Given the description of an element on the screen output the (x, y) to click on. 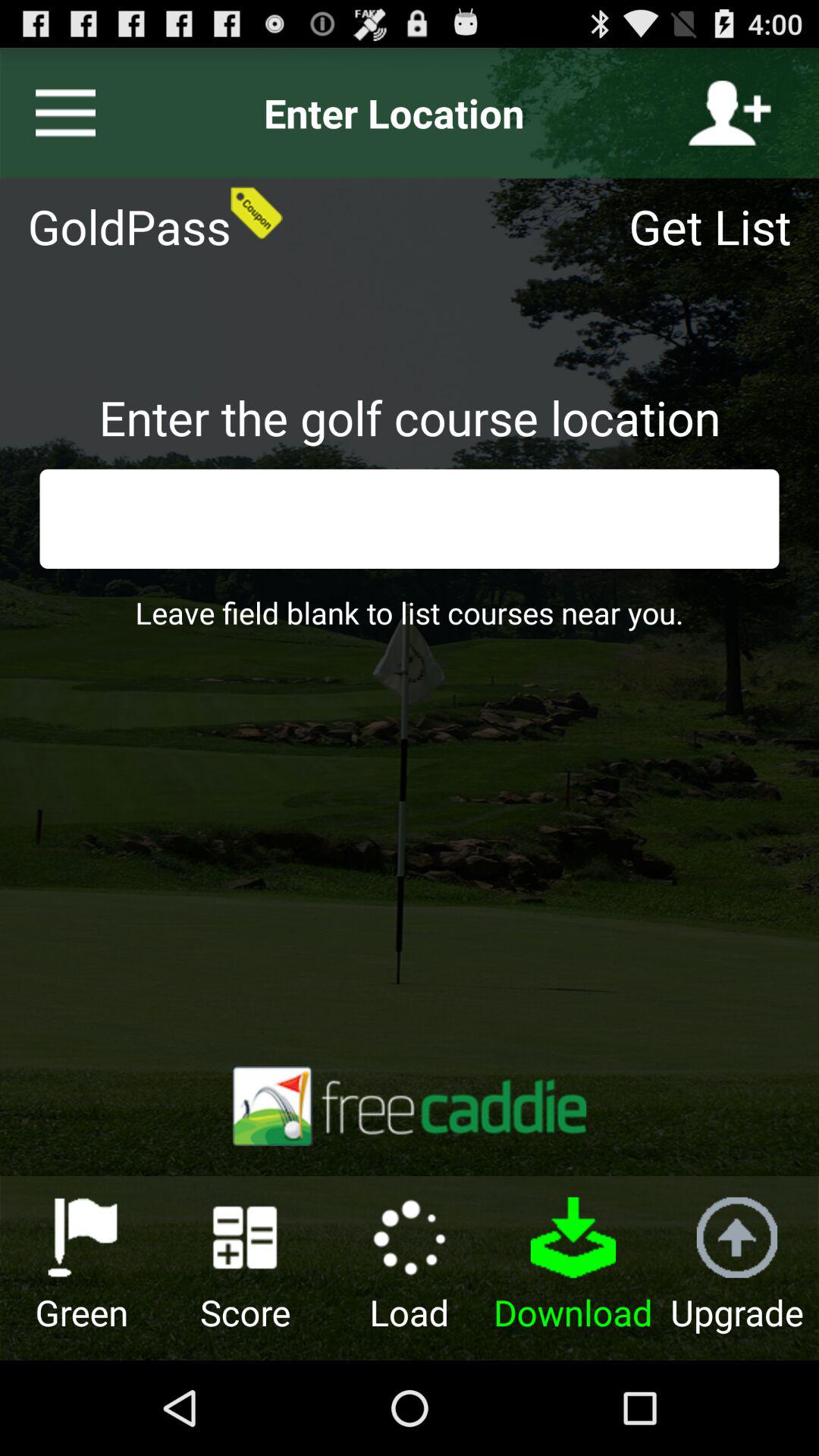
search (409, 518)
